Given the description of an element on the screen output the (x, y) to click on. 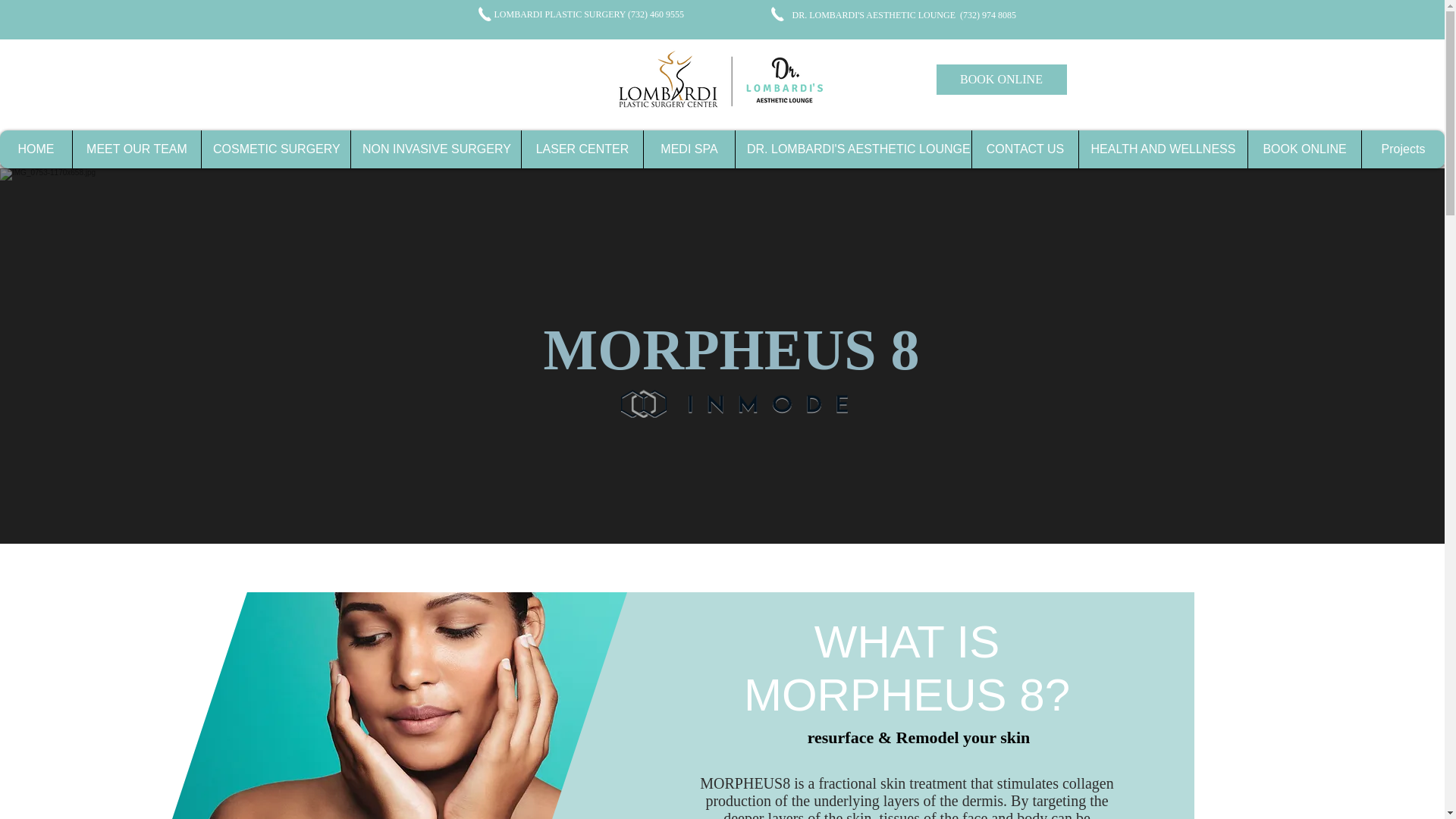
BOOK ONLINE (1000, 79)
MEET OUR TEAM (135, 149)
NON INVASIVE SURGERY (435, 149)
LASER CENTER (582, 149)
HOME (35, 149)
COSMETIC SURGERY (275, 149)
